Given the description of an element on the screen output the (x, y) to click on. 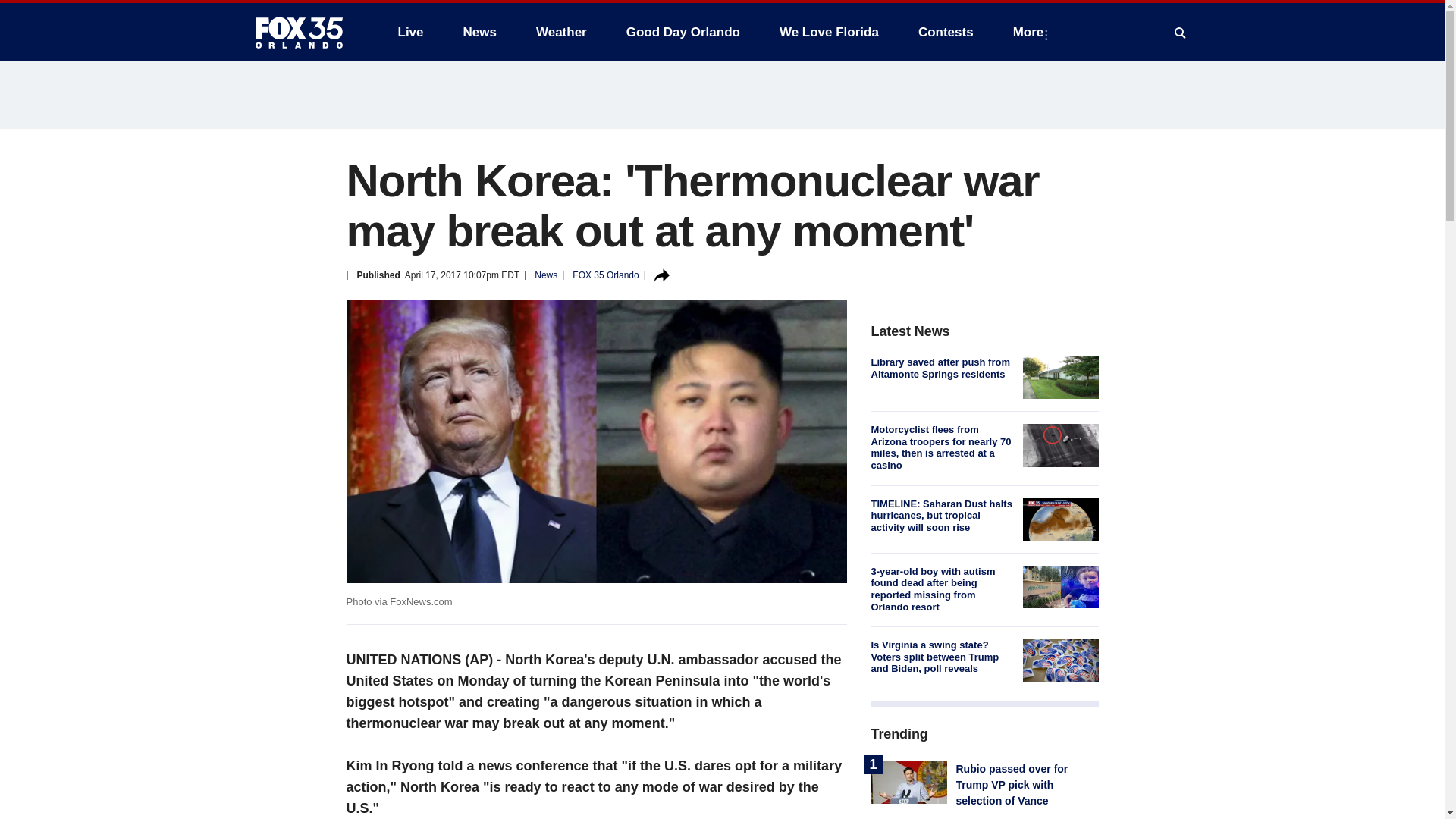
More (1031, 32)
Good Day Orlando (683, 32)
We Love Florida (829, 32)
Weather (561, 32)
Live (410, 32)
Contests (945, 32)
News (479, 32)
